Given the description of an element on the screen output the (x, y) to click on. 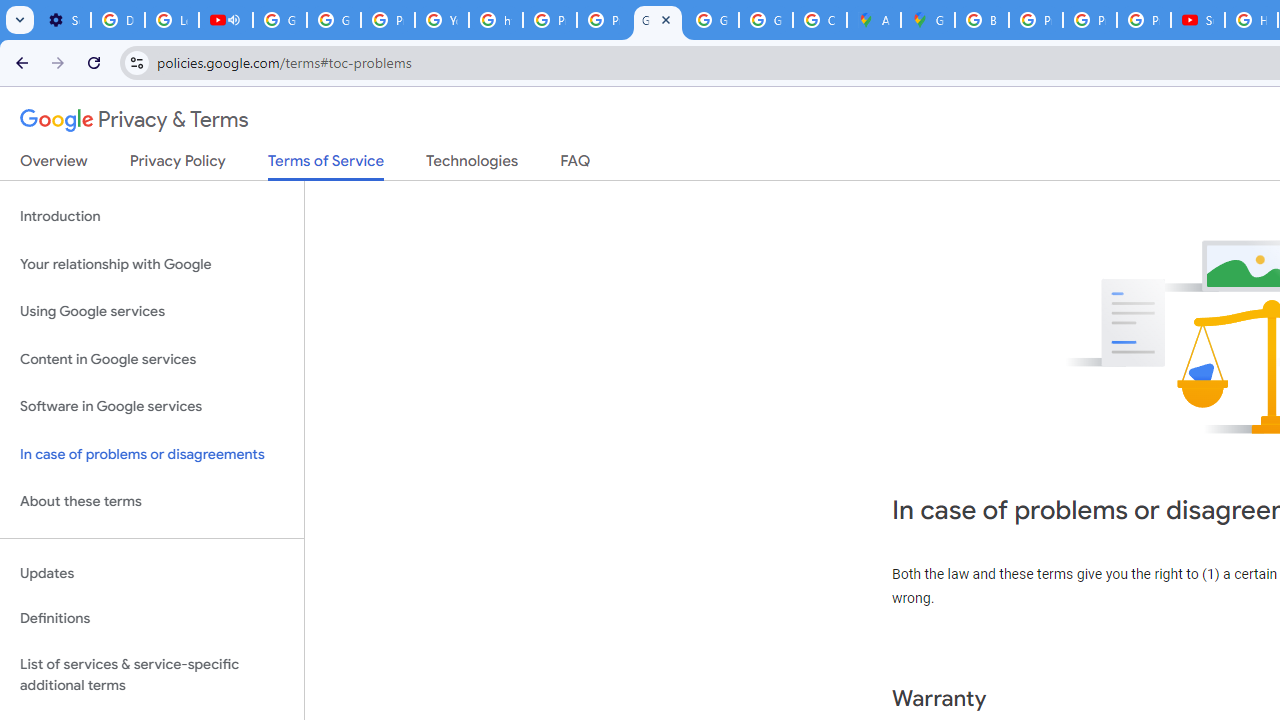
Blogger Policies and Guidelines - Transparency Center (981, 20)
Google Maps (927, 20)
Subscriptions - YouTube (1197, 20)
Create your Google Account (819, 20)
Settings - Customize profile (63, 20)
In case of problems or disagreements (152, 453)
List of services & service-specific additional terms (152, 674)
Learn how to find your photos - Google Photos Help (171, 20)
